Given the description of an element on the screen output the (x, y) to click on. 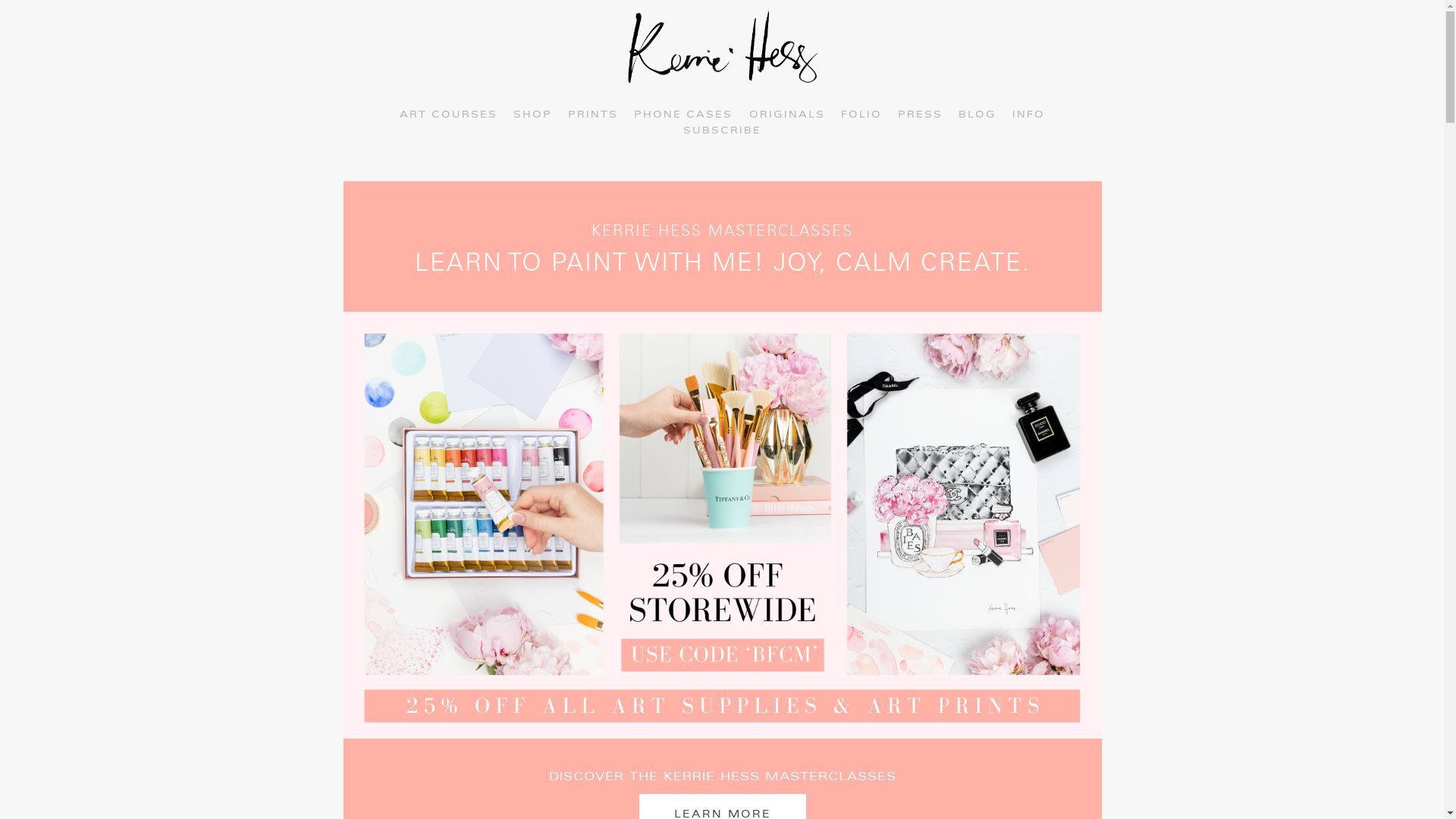
PHONE CASES Element type: text (682, 114)
ART COURSES Element type: text (448, 114)
PRESS Element type: text (919, 114)
BLOG Element type: text (977, 114)
ORIGINALS Element type: text (787, 114)
SUBSCRIBE Element type: text (722, 130)
PRINTS Element type: text (592, 114)
INFO Element type: text (1028, 114)
SHOP Element type: text (532, 114)
FOLIO Element type: text (860, 114)
